Given the description of an element on the screen output the (x, y) to click on. 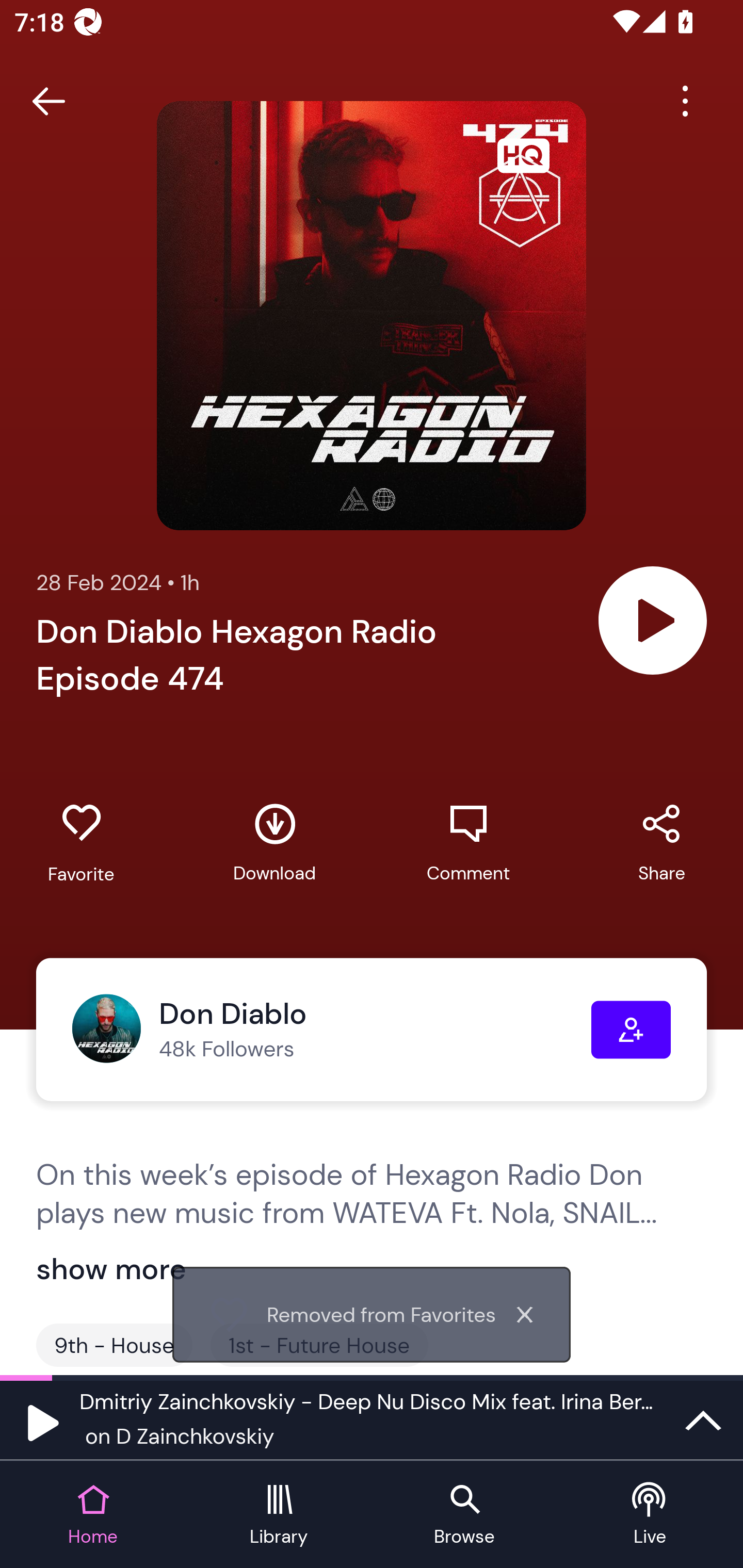
Favorite (81, 843)
Download (274, 843)
Comment (467, 843)
Share (661, 843)
Don Diablo, 48k Followers Don Diablo 48k Followers (331, 1029)
Follow (630, 1029)
Home tab Home (92, 1515)
Library tab Library (278, 1515)
Browse tab Browse (464, 1515)
Live tab Live (650, 1515)
